Given the description of an element on the screen output the (x, y) to click on. 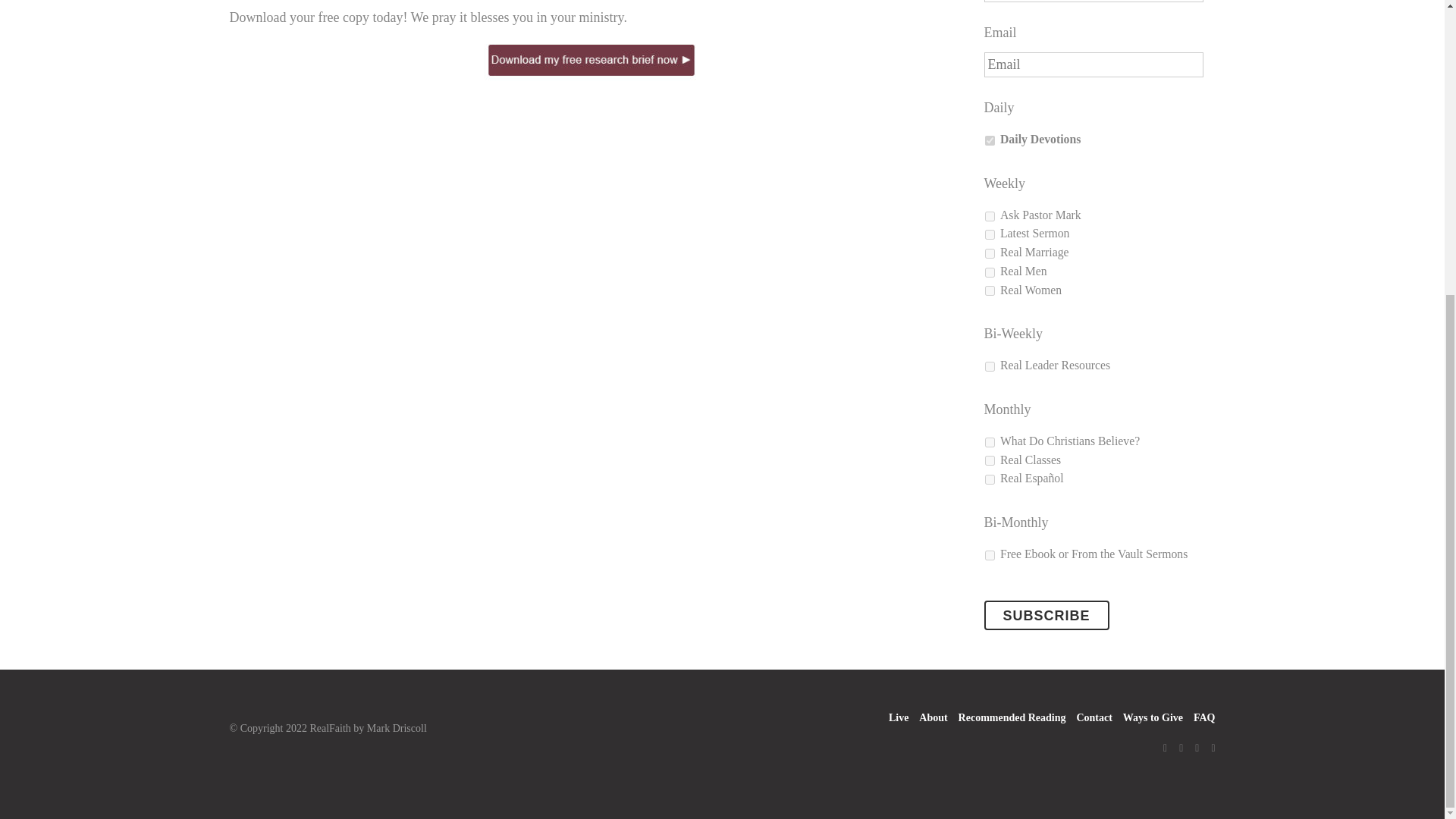
Ask Pastor Mark (989, 216)
Subscribe (1046, 614)
Free Ebook or From the Vault Sermons (989, 555)
Daily Devotions (989, 140)
Real Women (989, 290)
Real Marriage (989, 253)
What Do Christians Believe? (989, 442)
Real Leader Resources (989, 366)
Latest Sermon (989, 234)
Real Classes (989, 460)
Real Men (989, 272)
